Given the description of an element on the screen output the (x, y) to click on. 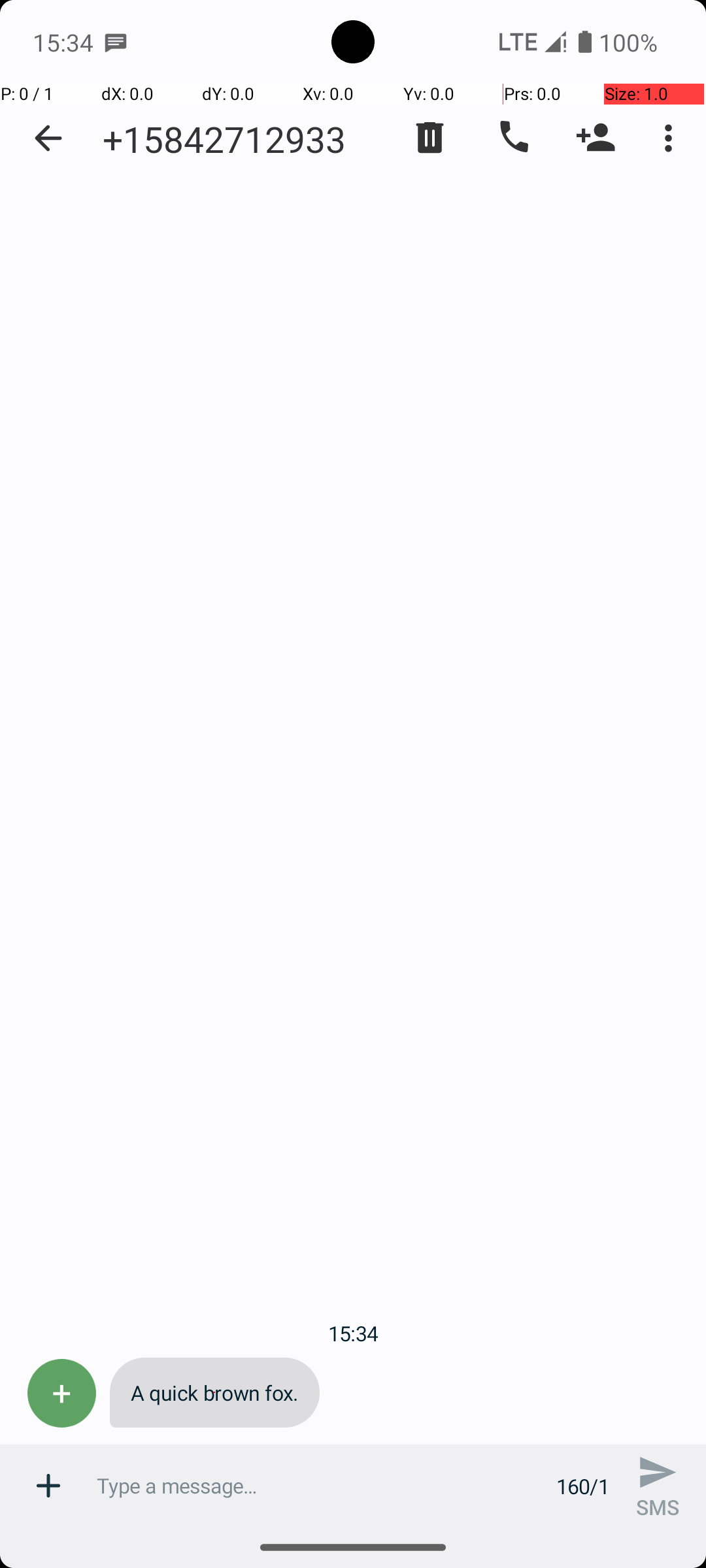
+15842712933 Element type: android.widget.TextView (223, 138)
160/1 Element type: android.widget.TextView (582, 1485)
A quick brown fox. Element type: android.widget.TextView (214, 1392)
